Given the description of an element on the screen output the (x, y) to click on. 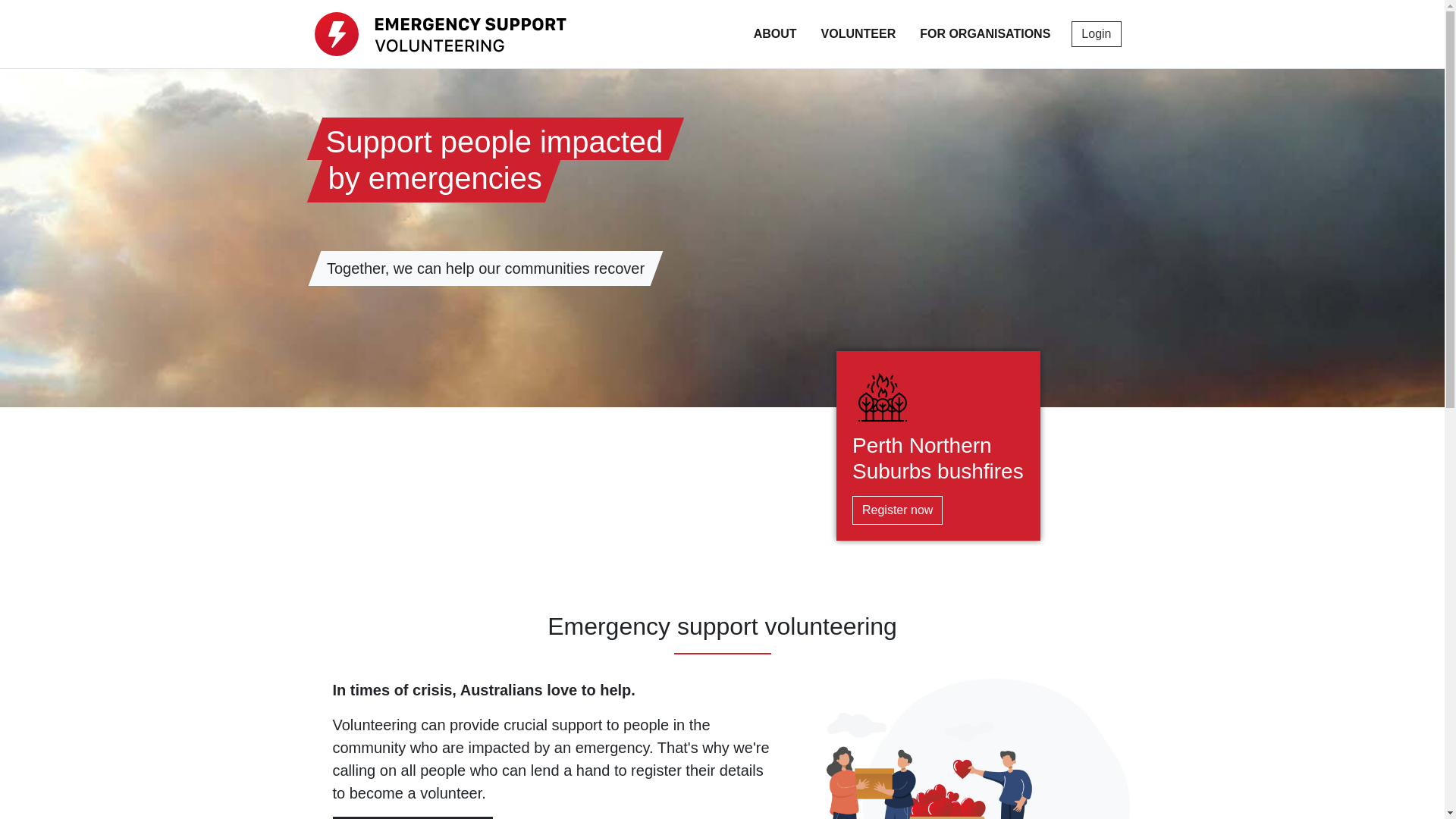
Emergency Support Volunteers Logo Element type: text (439, 34)
VOLUNTEER Element type: text (858, 34)
Login Element type: text (1095, 34)
Register now Element type: text (897, 509)
ABOUT Element type: text (775, 34)
FOR ORGANISATIONS Element type: text (984, 34)
